Given the description of an element on the screen output the (x, y) to click on. 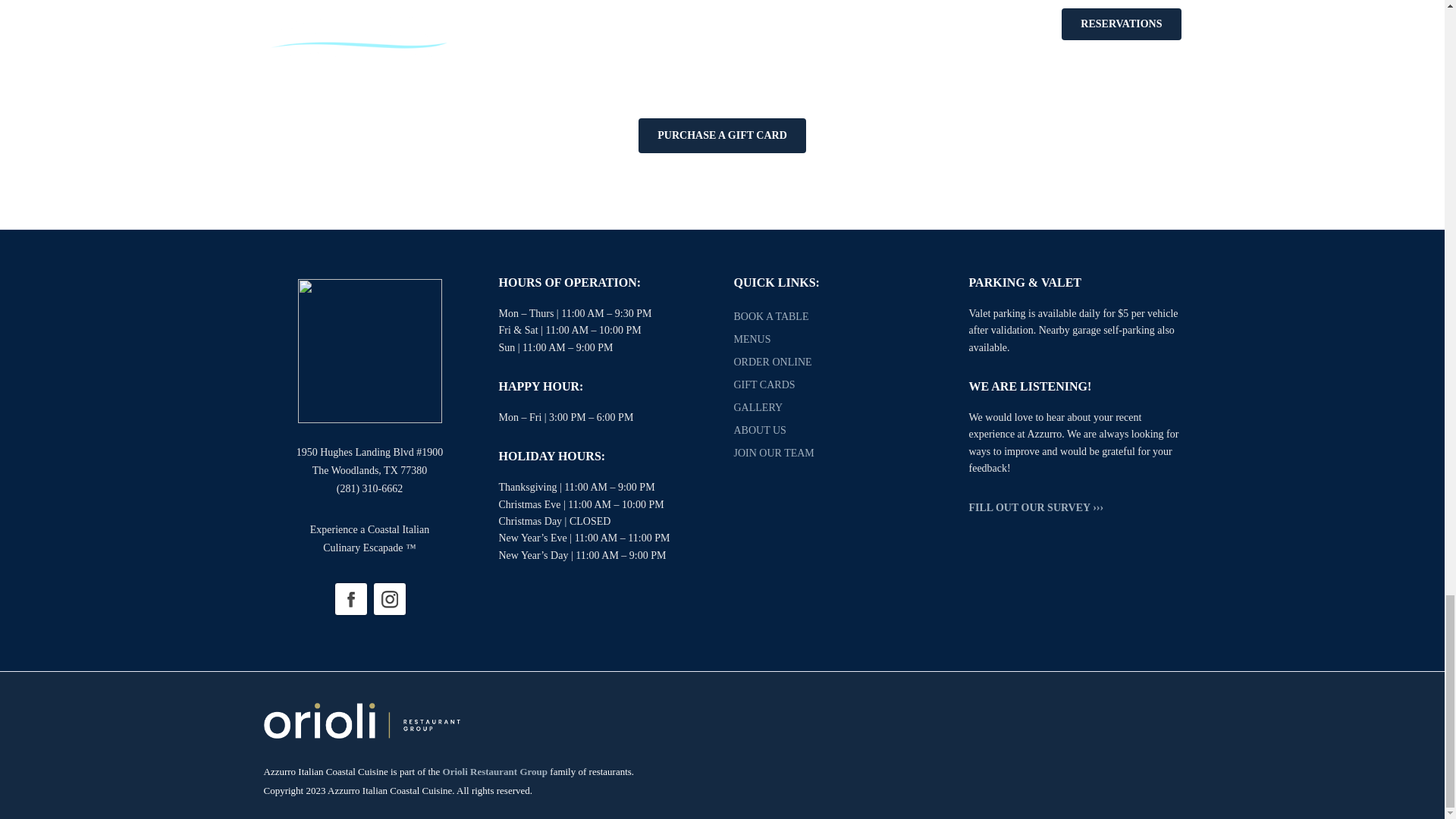
GIFT CARDS (763, 384)
Visit Us On Instagram (389, 597)
Visit Us On Facebook (349, 597)
ORDER ONLINE (772, 361)
MENUS (752, 338)
Orioli Restaurant Group (494, 771)
JOIN OUR TEAM (773, 452)
BOOK A TABLE (771, 316)
GALLERY (758, 407)
ABOUT US (759, 430)
